Given the description of an element on the screen output the (x, y) to click on. 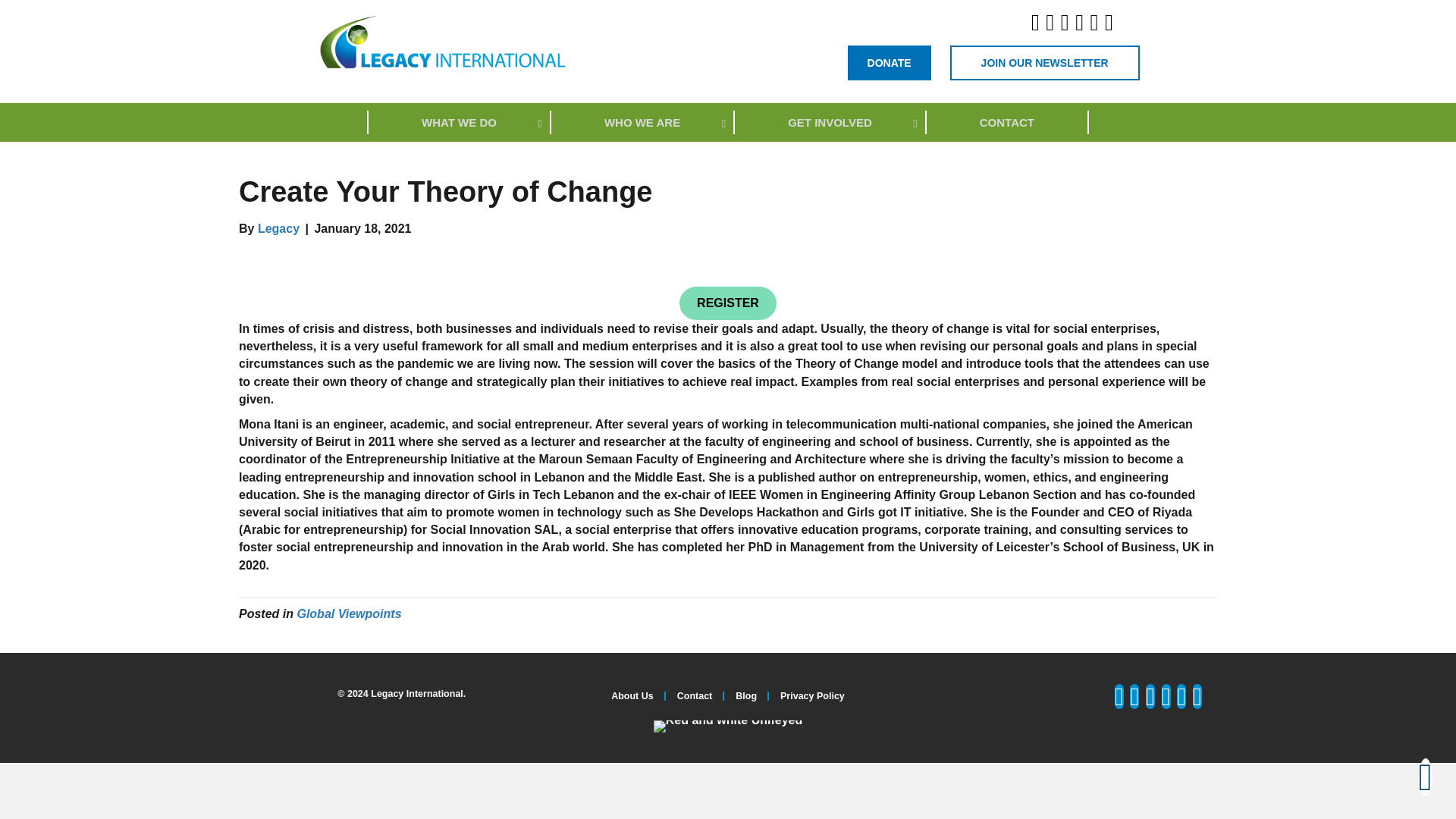
footerlogo2 (727, 726)
WHAT WE DO (459, 122)
WHO WE ARE (643, 122)
CONTACT (1007, 122)
JOIN OUR NEWSLETTER (1045, 62)
GET INVOLVED (830, 122)
DONATE (727, 122)
Legacy international logo (889, 62)
